Given the description of an element on the screen output the (x, y) to click on. 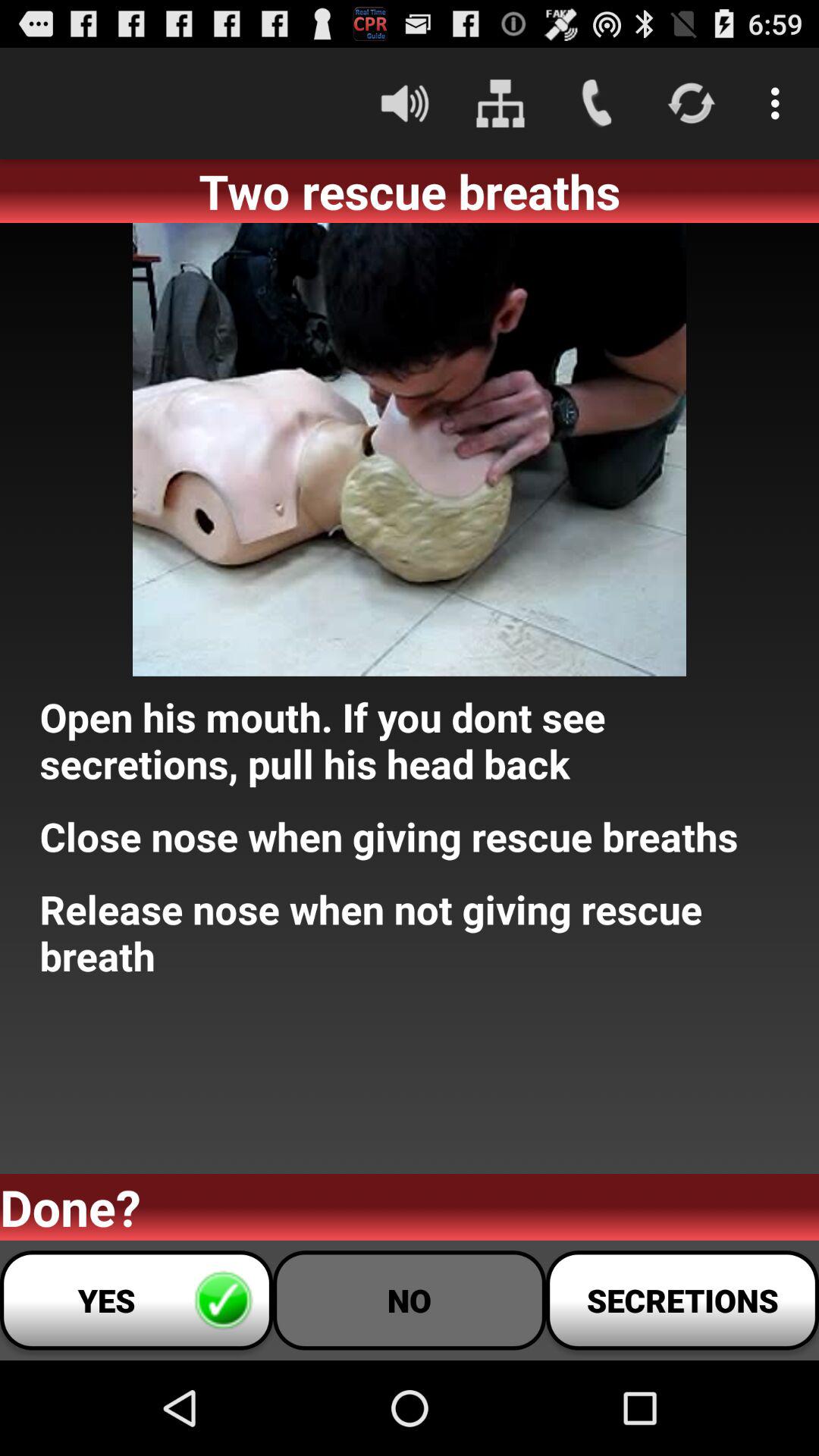
turn on icon above the two rescue breaths app (404, 103)
